Given the description of an element on the screen output the (x, y) to click on. 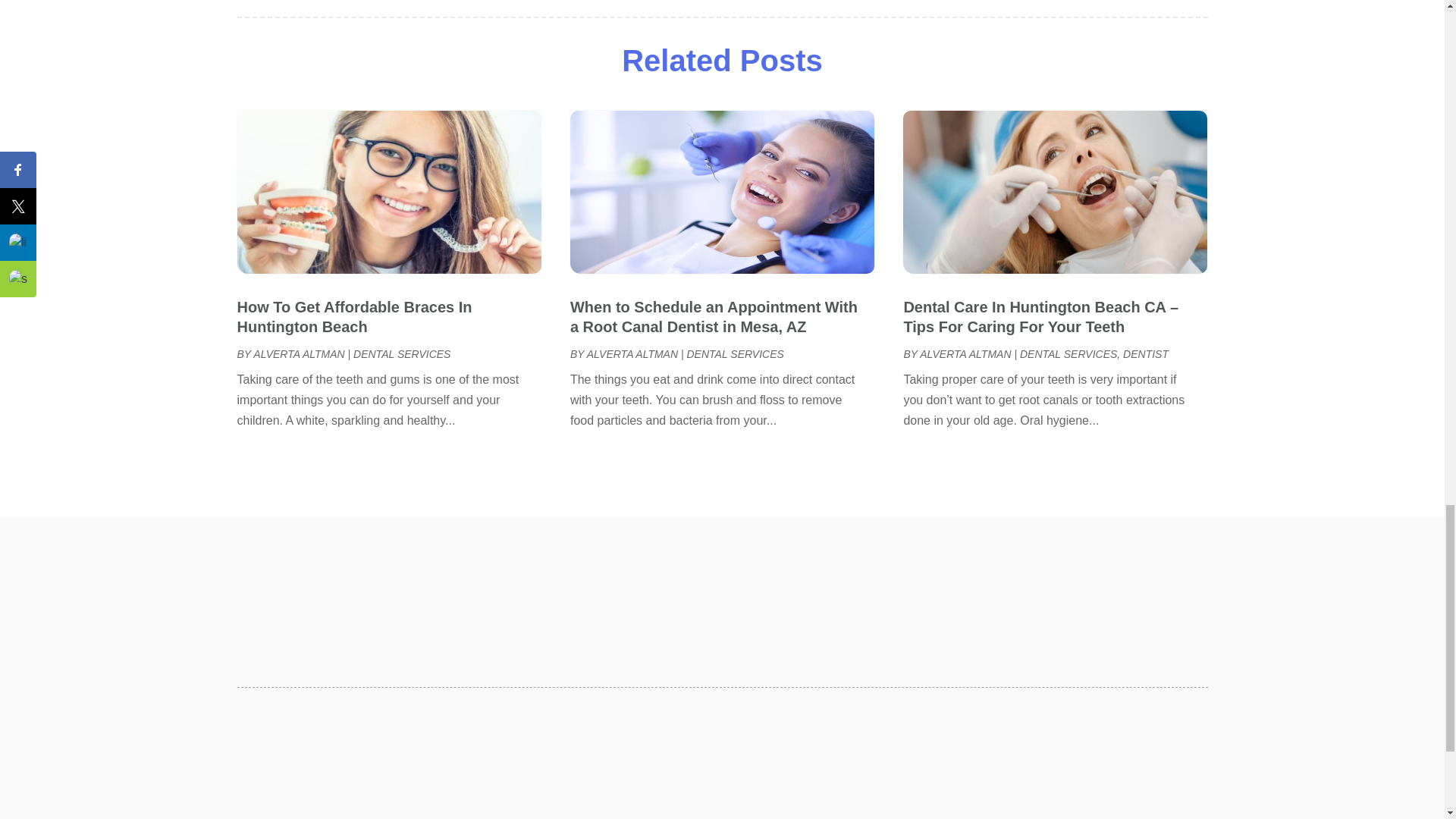
Posts by Alverta Altman (298, 354)
Posts by Alverta Altman (632, 354)
Posts by Alverta Altman (965, 354)
